Given the description of an element on the screen output the (x, y) to click on. 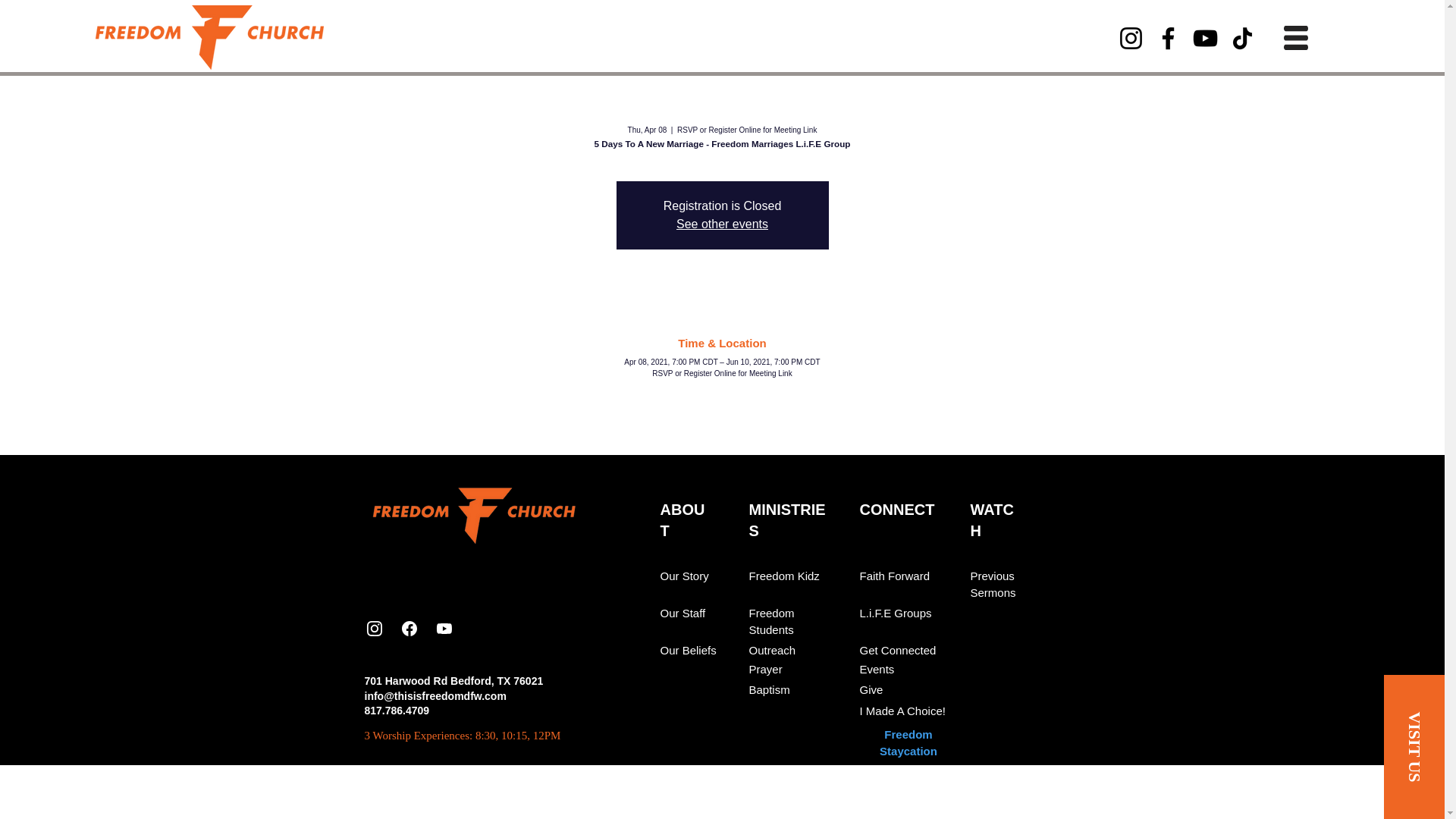
Prayer (766, 669)
Give (871, 689)
Events (877, 669)
Freedom Kidz (784, 576)
Baptism (769, 689)
Faith Forward (895, 576)
See other events (722, 223)
Our Beliefs (687, 650)
Freedom Staycation (908, 742)
Outreach (772, 650)
Previous Sermons (993, 584)
MINISTRIES (787, 519)
ABOUT (681, 519)
Get Connected (898, 650)
Our Staff (681, 613)
